Given the description of an element on the screen output the (x, y) to click on. 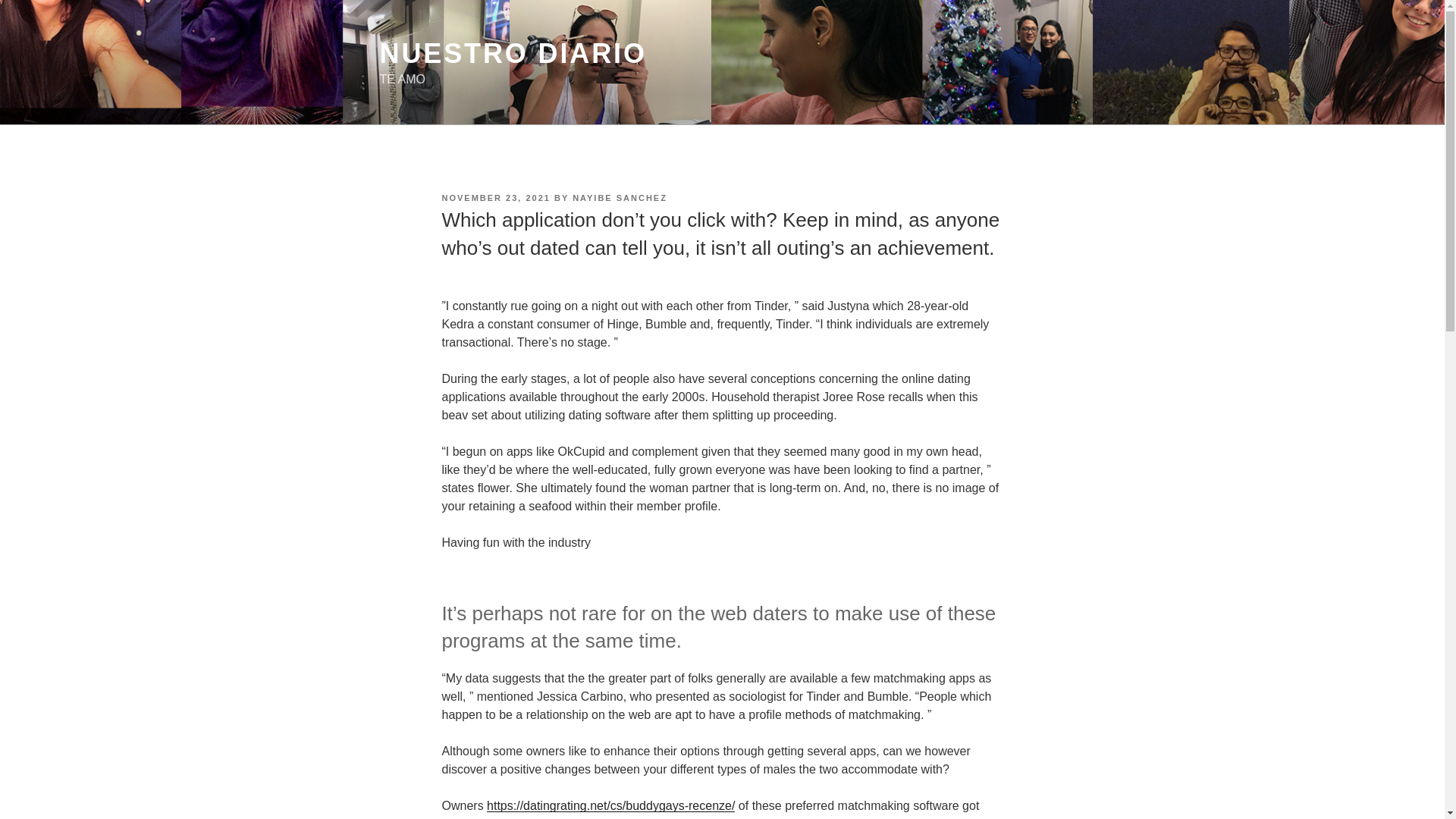
NAYIBE SANCHEZ (619, 197)
NUESTRO DIARIO (512, 52)
NOVEMBER 23, 2021 (495, 197)
